Given the description of an element on the screen output the (x, y) to click on. 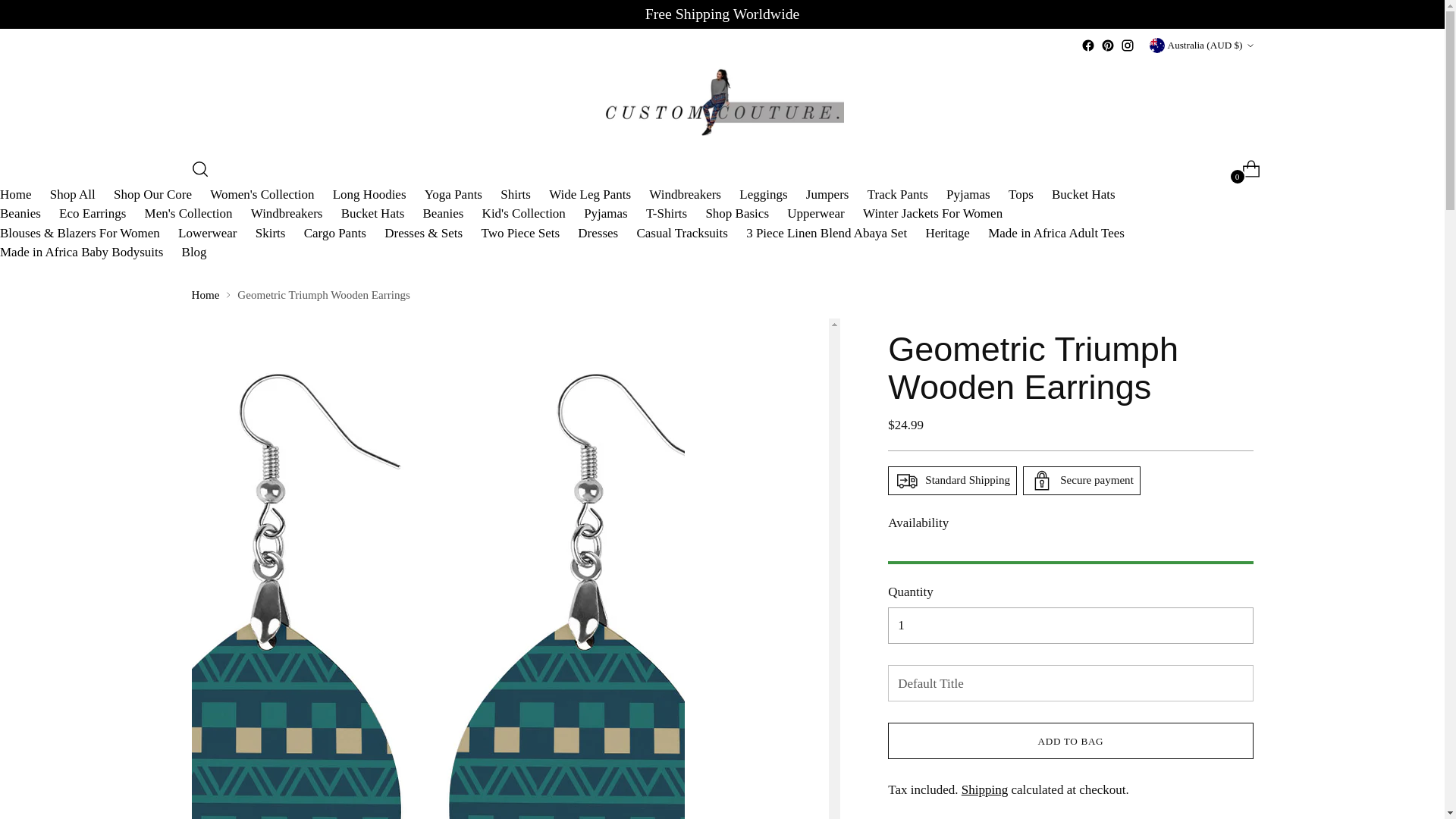
Custom Couture on Instagram (1127, 45)
Custom Couture on Pinterest (1107, 45)
1 (1070, 625)
Custom Couture on Facebook (1087, 45)
